Given the description of an element on the screen output the (x, y) to click on. 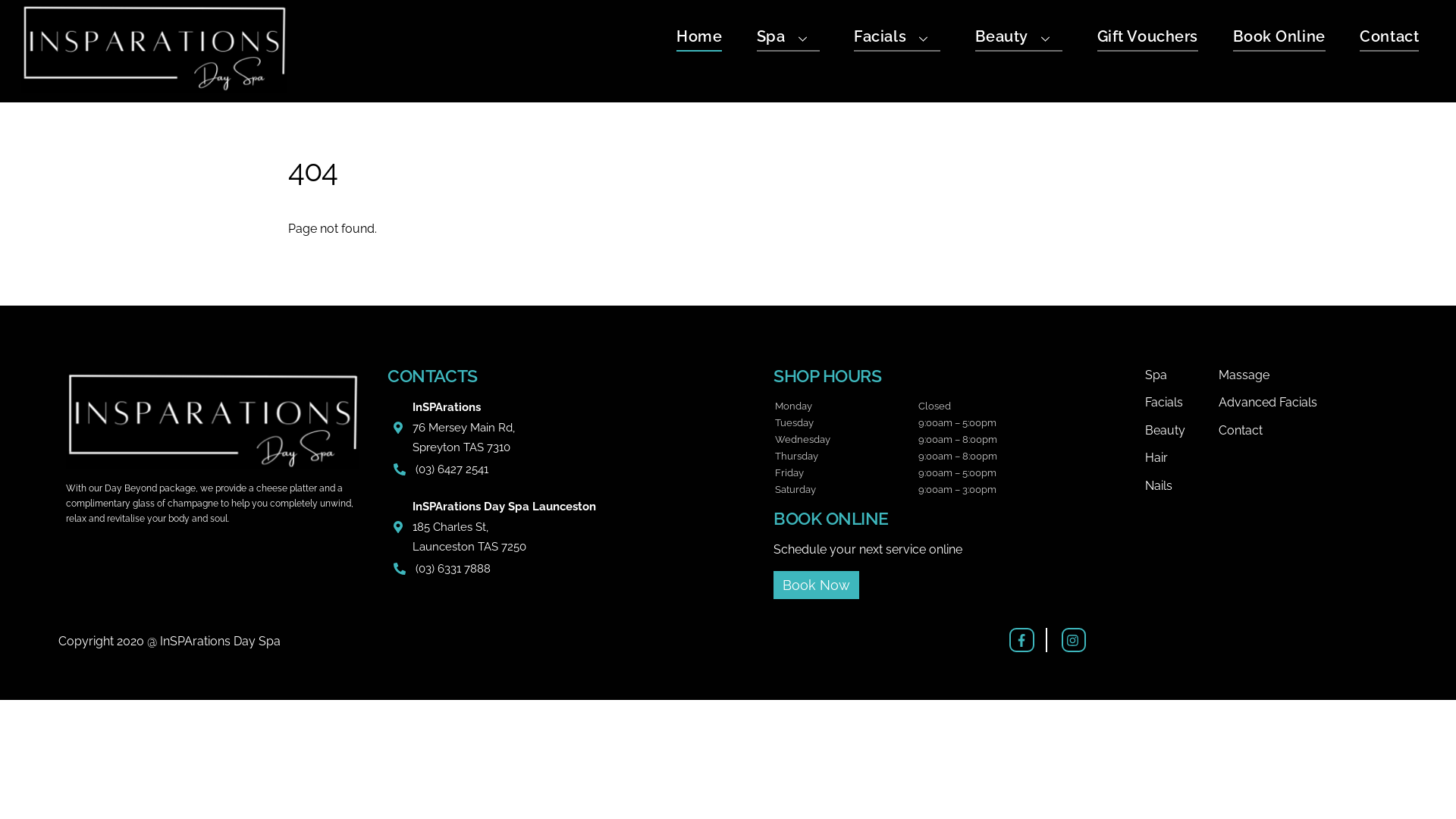
Spa Element type: text (787, 38)
Contact Element type: text (1388, 38)
Facials Element type: text (1181, 402)
Facials Element type: text (896, 38)
Contact Element type: text (1307, 430)
Book Online Element type: text (1279, 38)
Spa Element type: text (1181, 375)
Book Now Element type: text (816, 585)
Insparations logo cr Element type: hover (153, 47)
Advanced Facials Element type: text (1307, 402)
Beauty Element type: text (1018, 38)
Massage Element type: text (1307, 375)
Gift Vouchers Element type: text (1147, 38)
Home Element type: text (698, 38)
Insparations logo cr Element type: hover (211, 420)
Nails Element type: text (1181, 485)
Hair Element type: text (1181, 457)
Insparations Element type: hover (153, 84)
Beauty Element type: text (1181, 430)
